Given the description of an element on the screen output the (x, y) to click on. 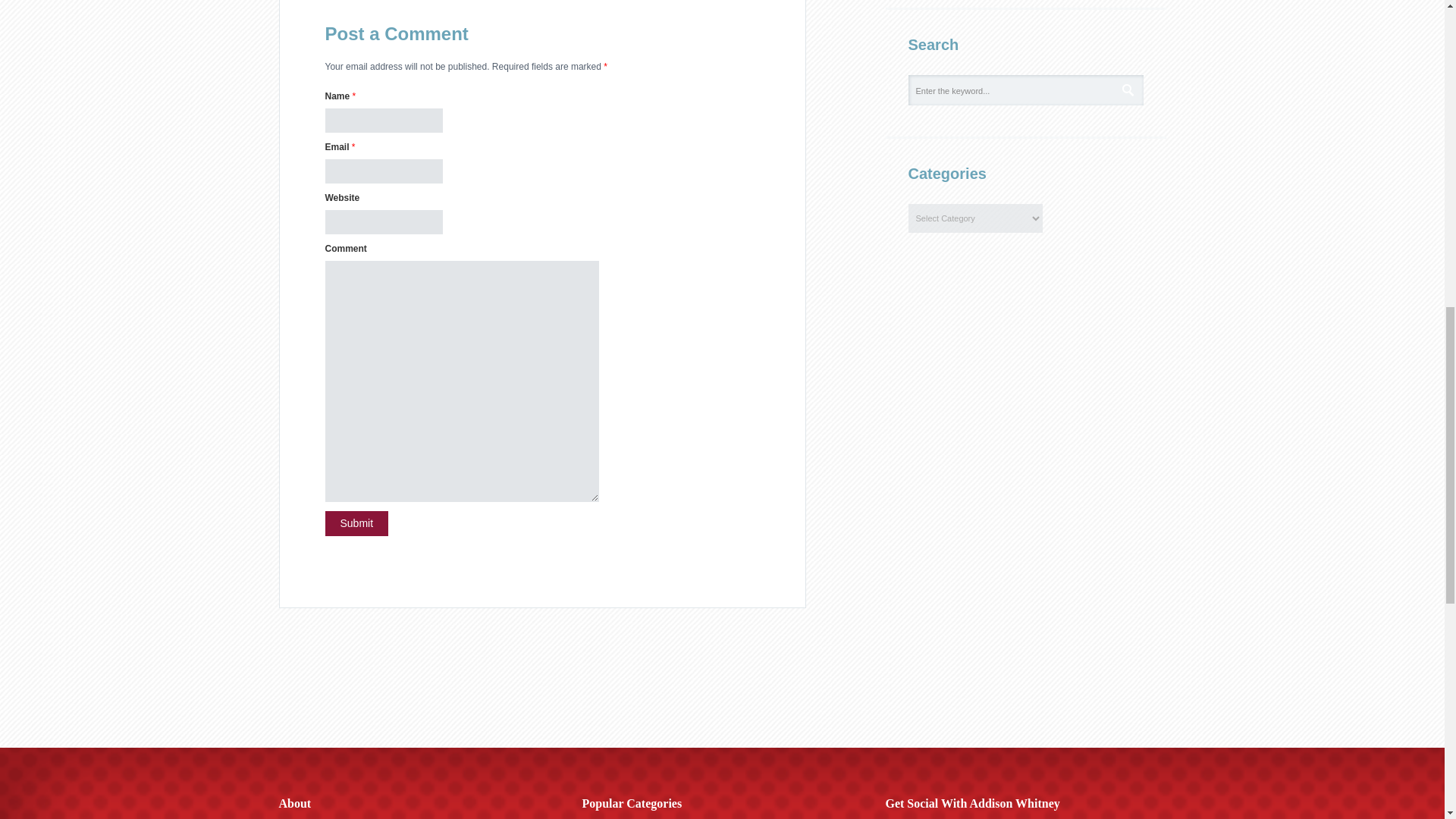
Enter the keyword... (1024, 90)
Submit (356, 523)
Submit (356, 523)
